Given the description of an element on the screen output the (x, y) to click on. 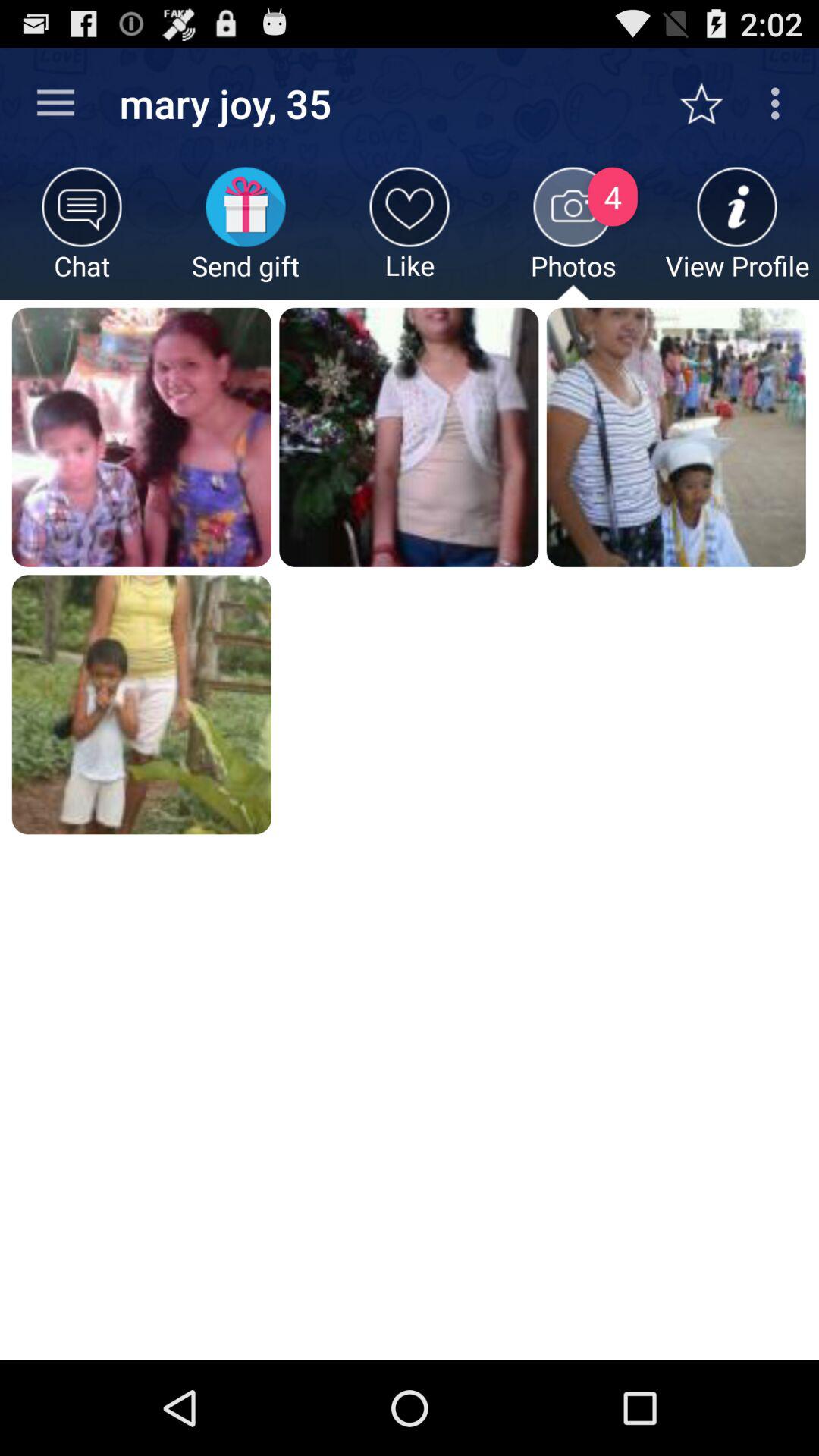
open icon next to view profile item (573, 233)
